Given the description of an element on the screen output the (x, y) to click on. 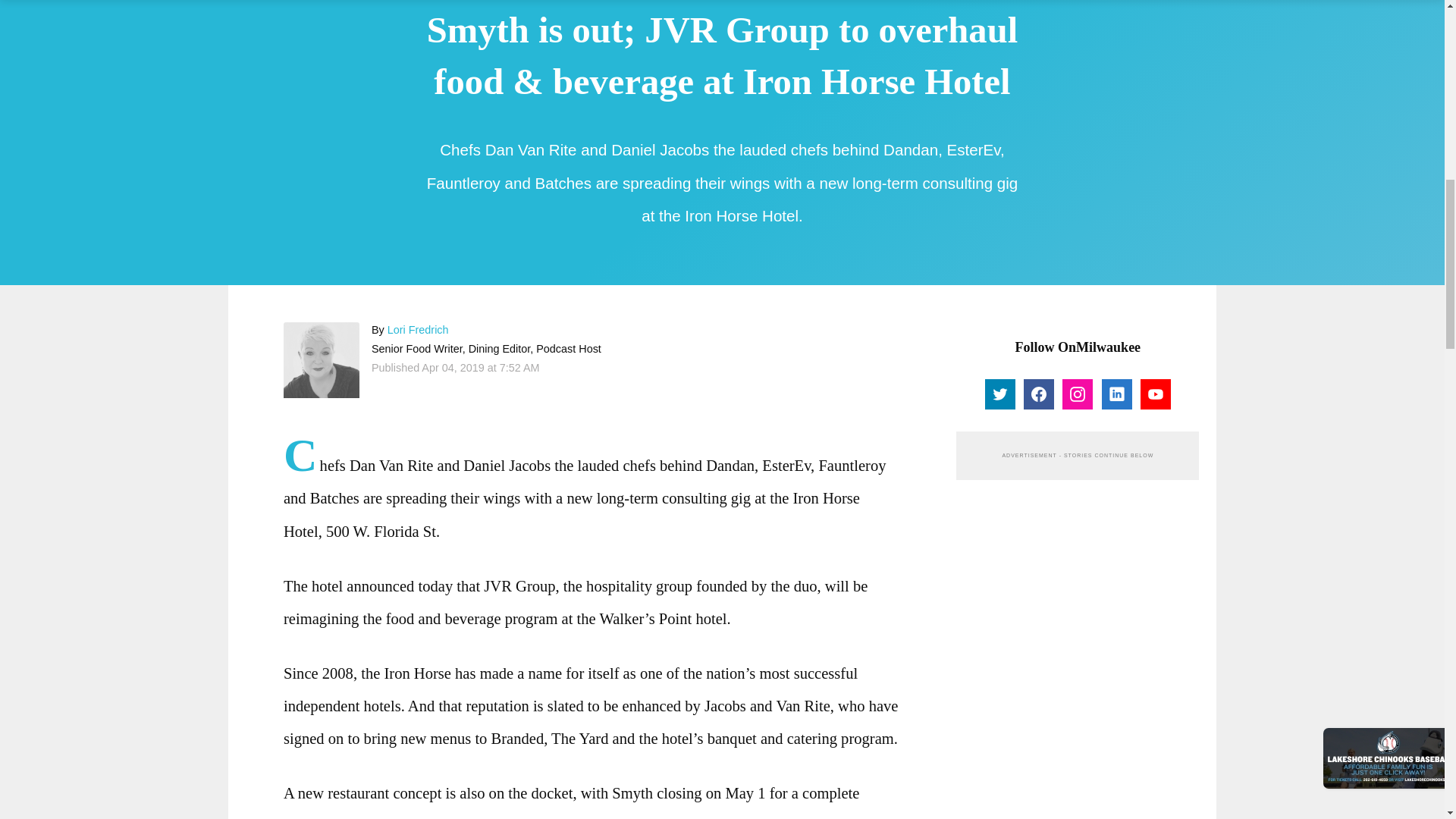
Facebook icon (1038, 394)
More articles by Lori Fredrich (417, 329)
Lori Fredrich (417, 329)
Lori Fredrich (321, 360)
Twitter icon (999, 394)
Instagram icon (1077, 394)
